Given the description of an element on the screen output the (x, y) to click on. 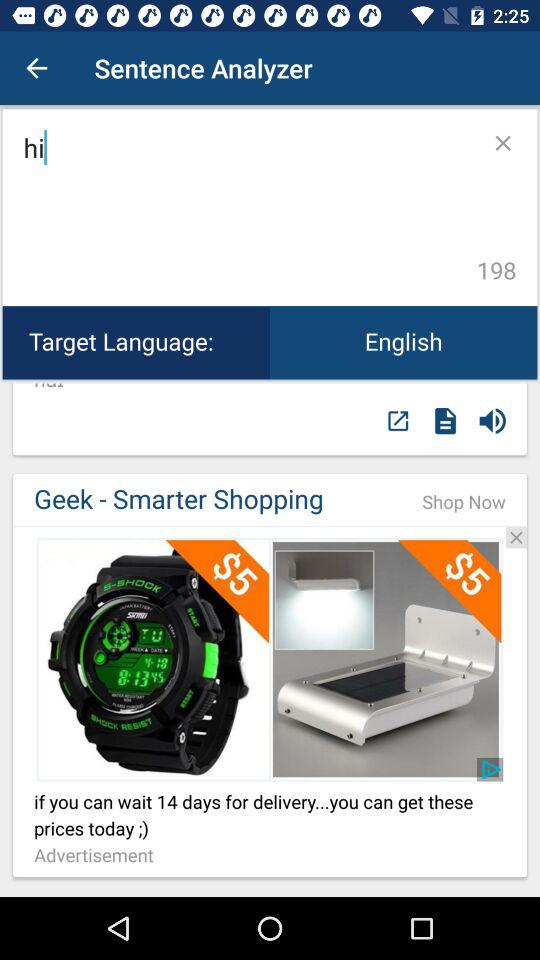
shop this item (269, 659)
